Given the description of an element on the screen output the (x, y) to click on. 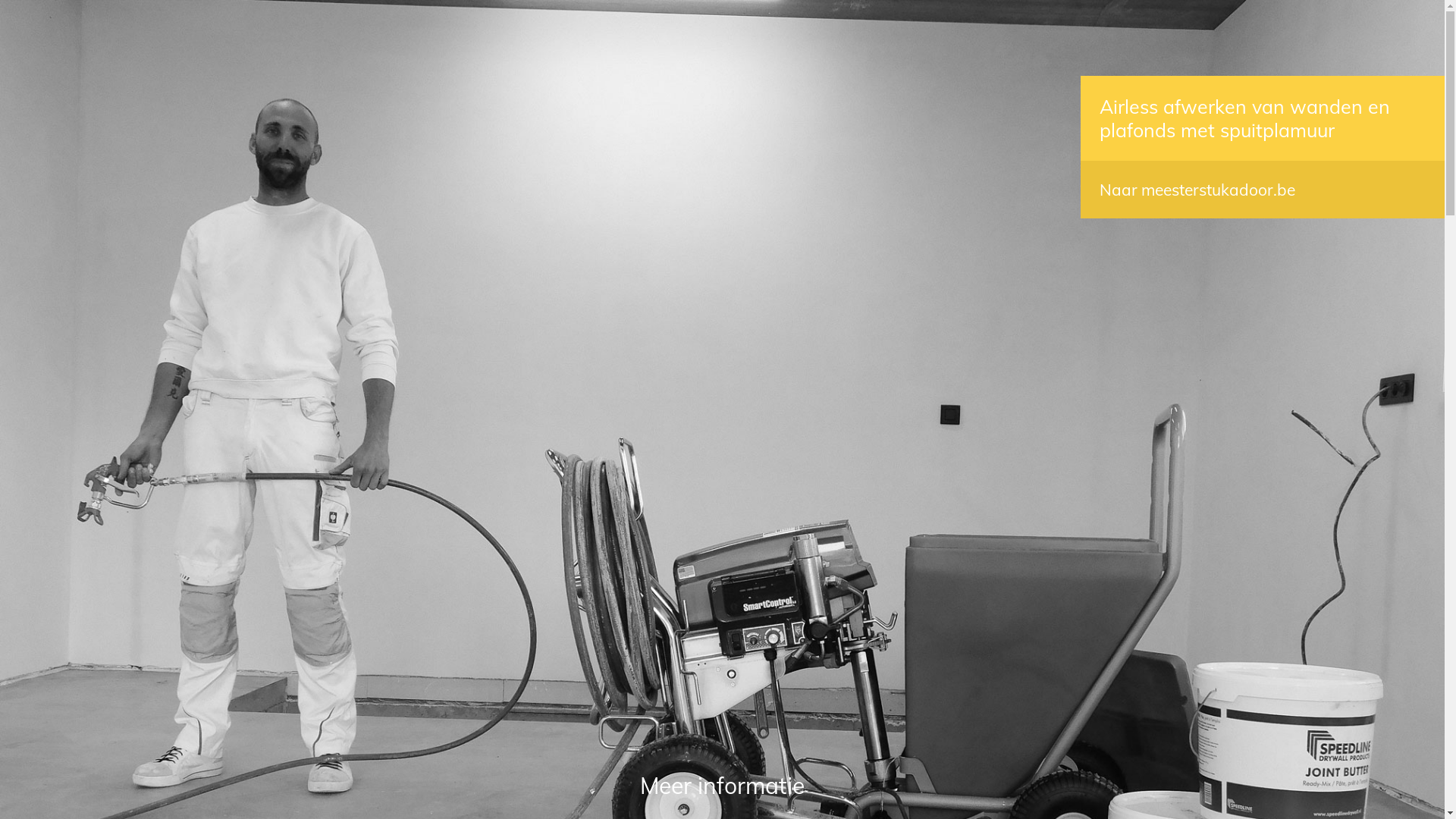
Naar meesterstukadoor.be Element type: text (1197, 189)
